Given the description of an element on the screen output the (x, y) to click on. 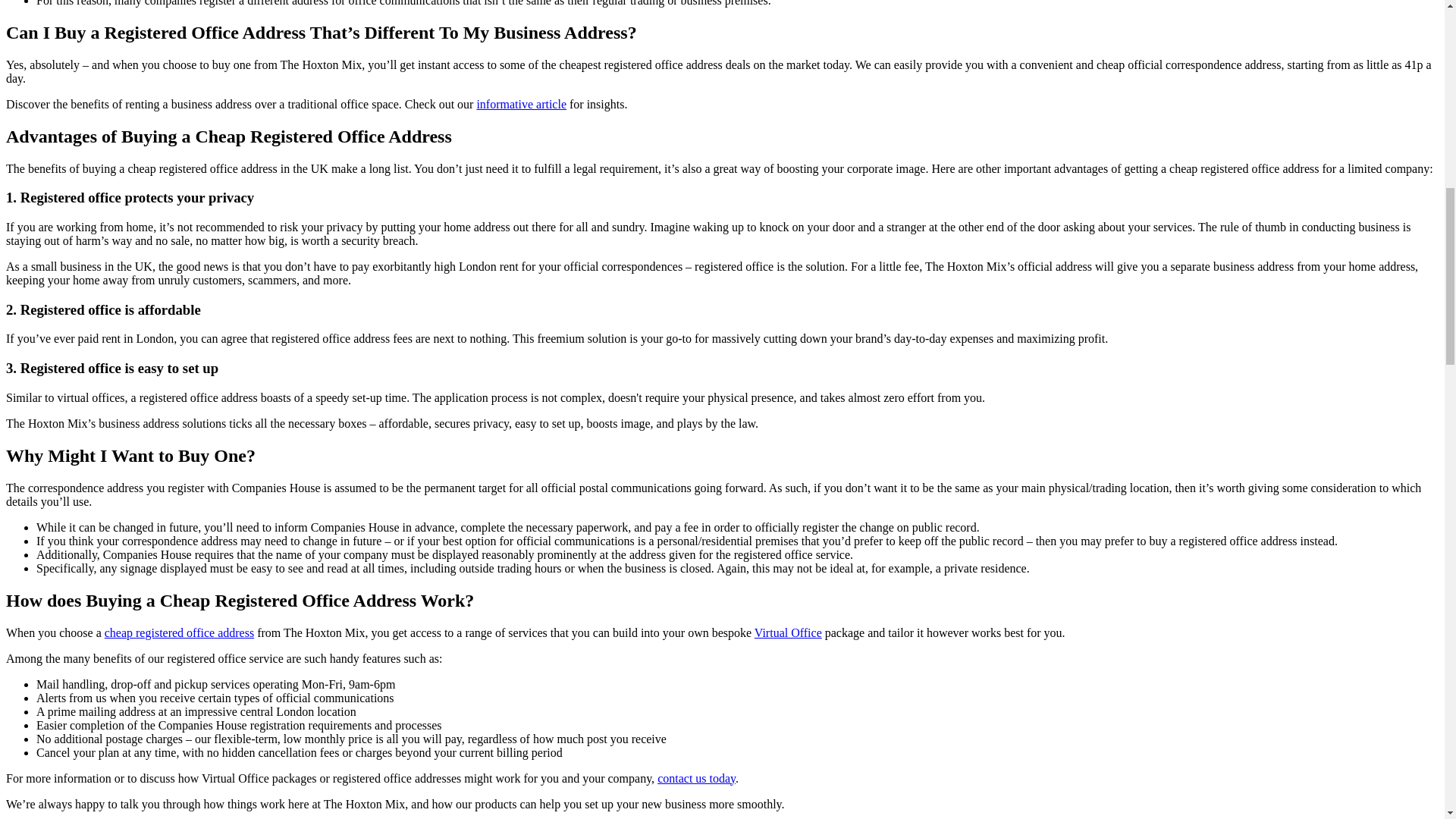
Virtual Office (788, 632)
cheap registered office address (178, 632)
informative article (521, 103)
contact us today (696, 778)
